Given the description of an element on the screen output the (x, y) to click on. 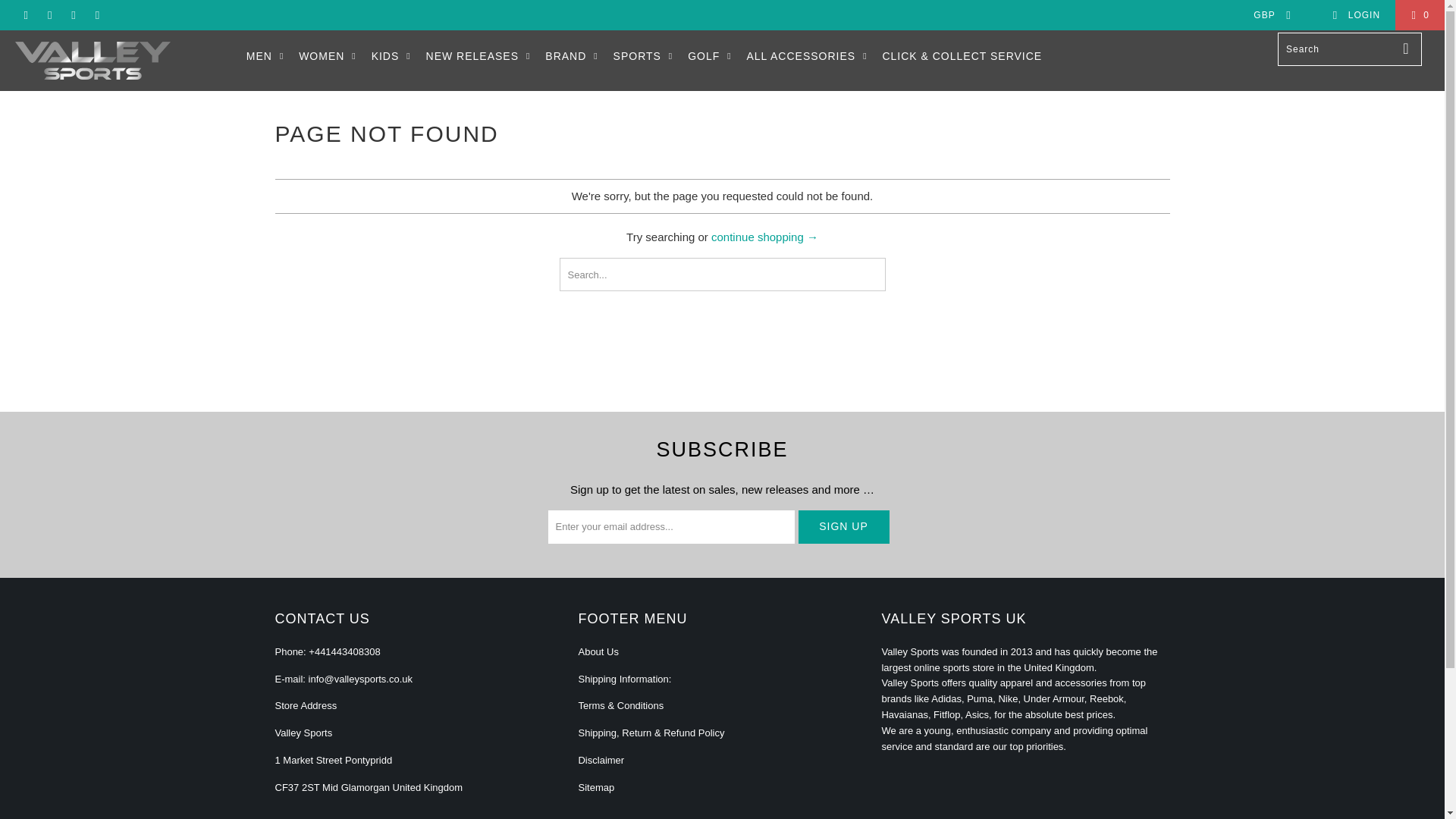
Valley Sports UK on Facebook (48, 14)
Valley Sports UK on Twitter (25, 14)
Valley Sports UK on Pinterest (73, 14)
Sign Up (842, 526)
Valley Sports UK (122, 60)
Valley Sports UK on Instagram (96, 14)
My Account  (1355, 15)
